Given the description of an element on the screen output the (x, y) to click on. 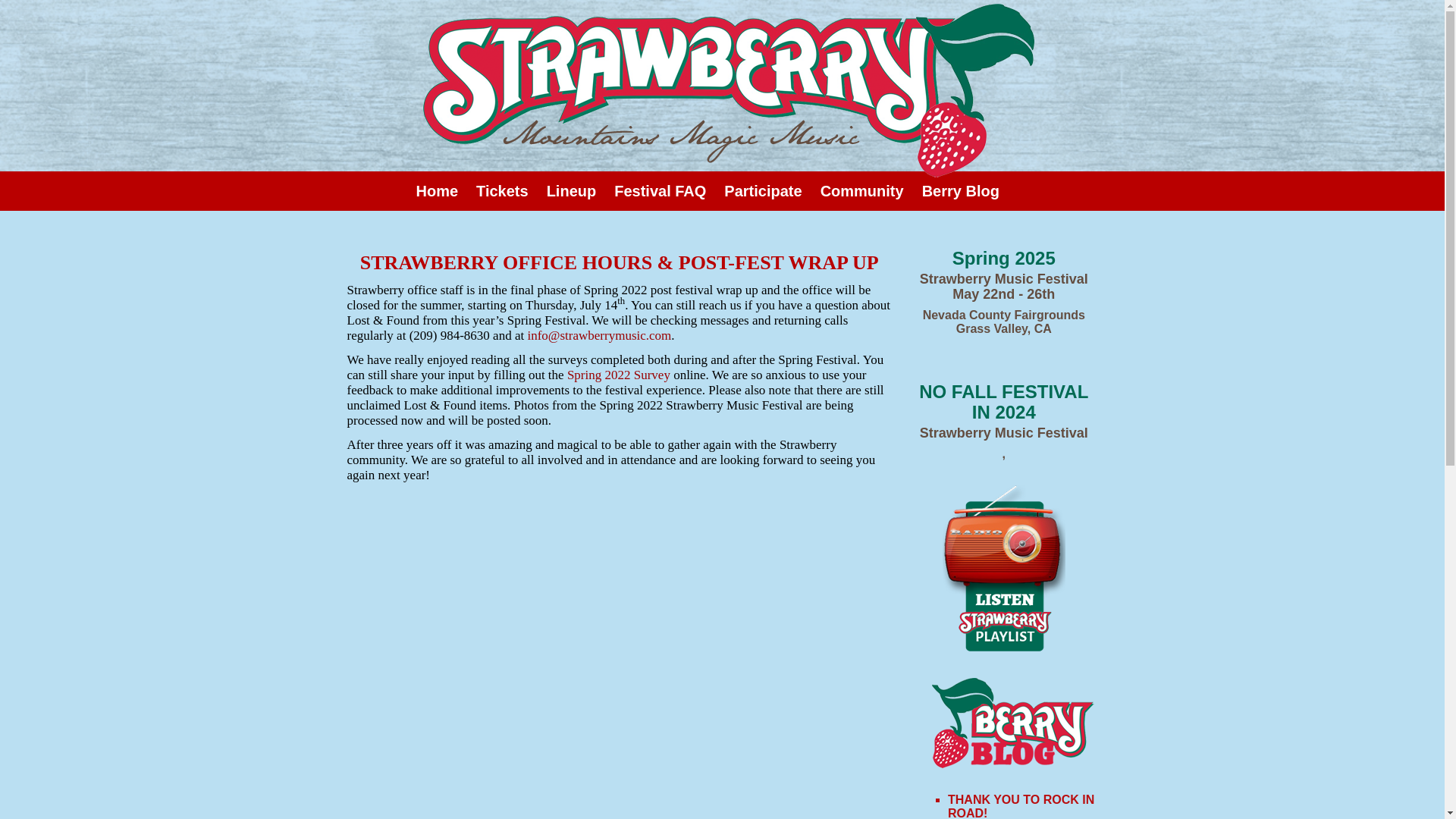
Festival FAQ (659, 190)
Lineup (571, 190)
Participate (762, 190)
Berry Blog (960, 190)
THANK YOU TO ROCK IN ROAD! (1020, 806)
Community (861, 190)
Home (437, 190)
Spring 2022 Survey (618, 374)
Tickets (502, 190)
